Given the description of an element on the screen output the (x, y) to click on. 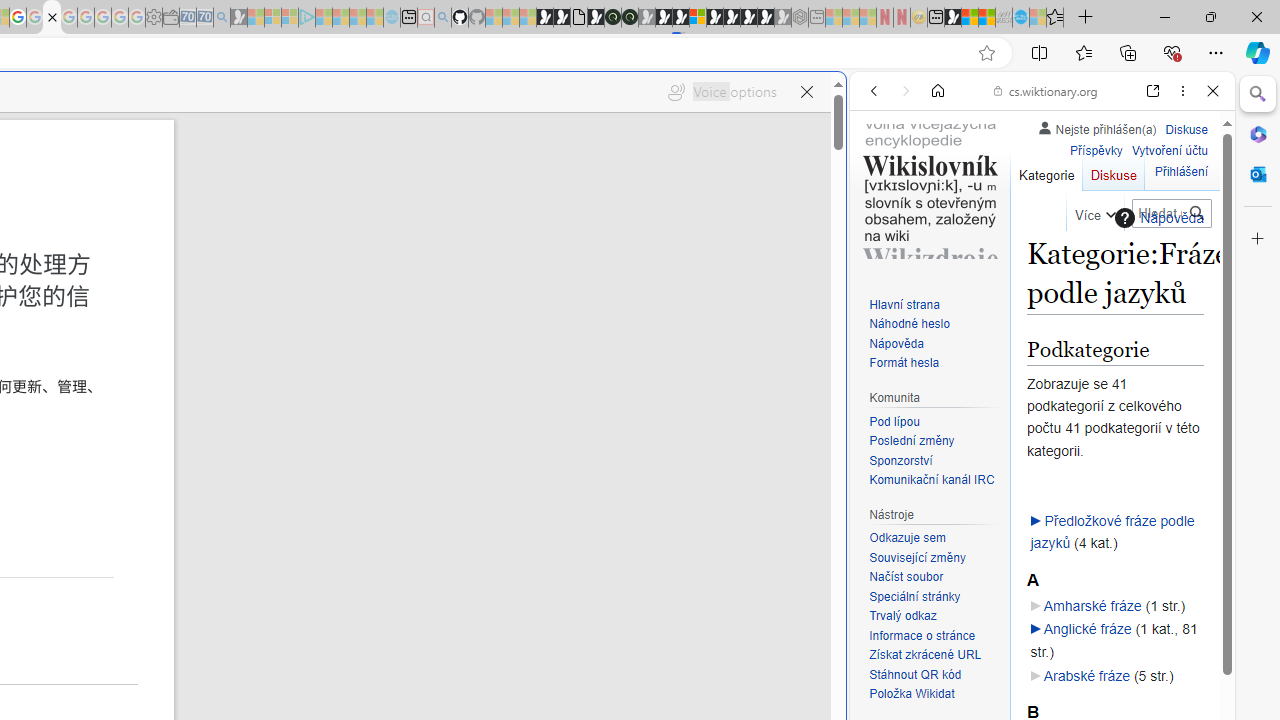
Close read aloud (805, 92)
SEARCH TOOLS (1093, 228)
Cheap Car Rentals - Save70.com - Sleeping (204, 17)
Web scope (882, 180)
